Given the description of an element on the screen output the (x, y) to click on. 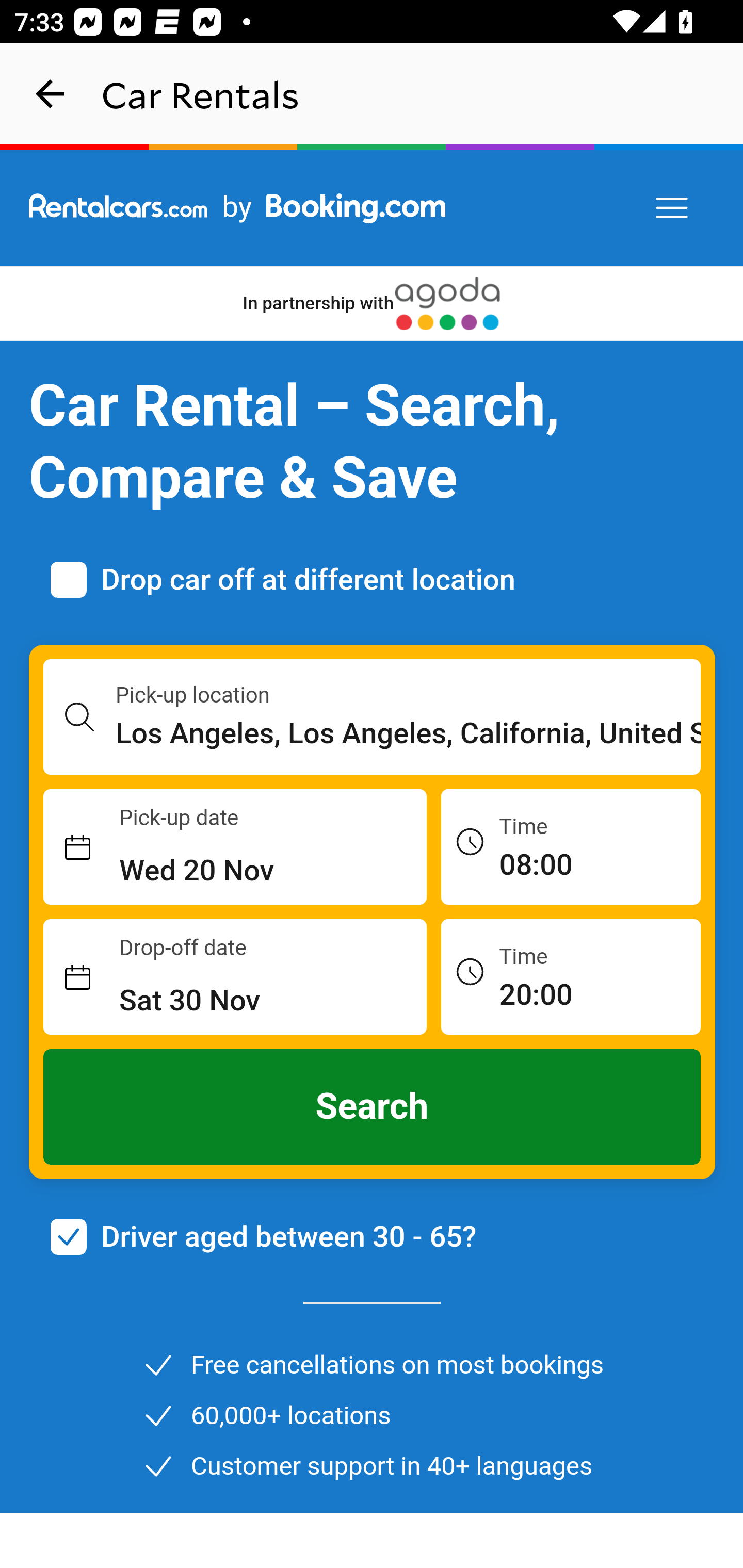
navigation_button (50, 93)
Menu (672, 208)
Pick-up date Wed 20 Nov (235, 847)
08:00 (571, 845)
Drop-off date Sat 30 Nov (235, 977)
20:00 (571, 975)
Search (372, 1106)
